Given the description of an element on the screen output the (x, y) to click on. 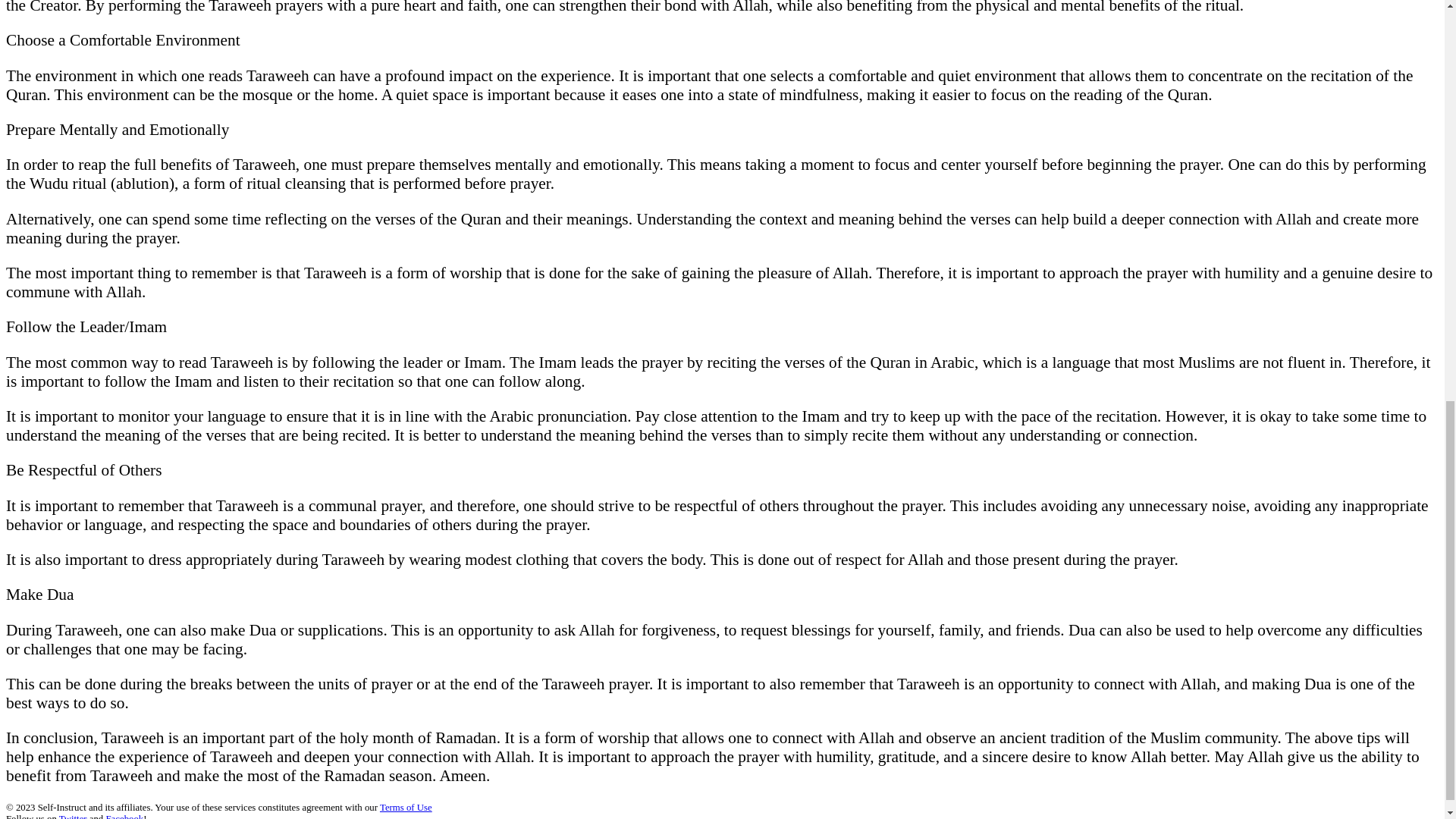
Terms of Use (406, 807)
